Given the description of an element on the screen output the (x, y) to click on. 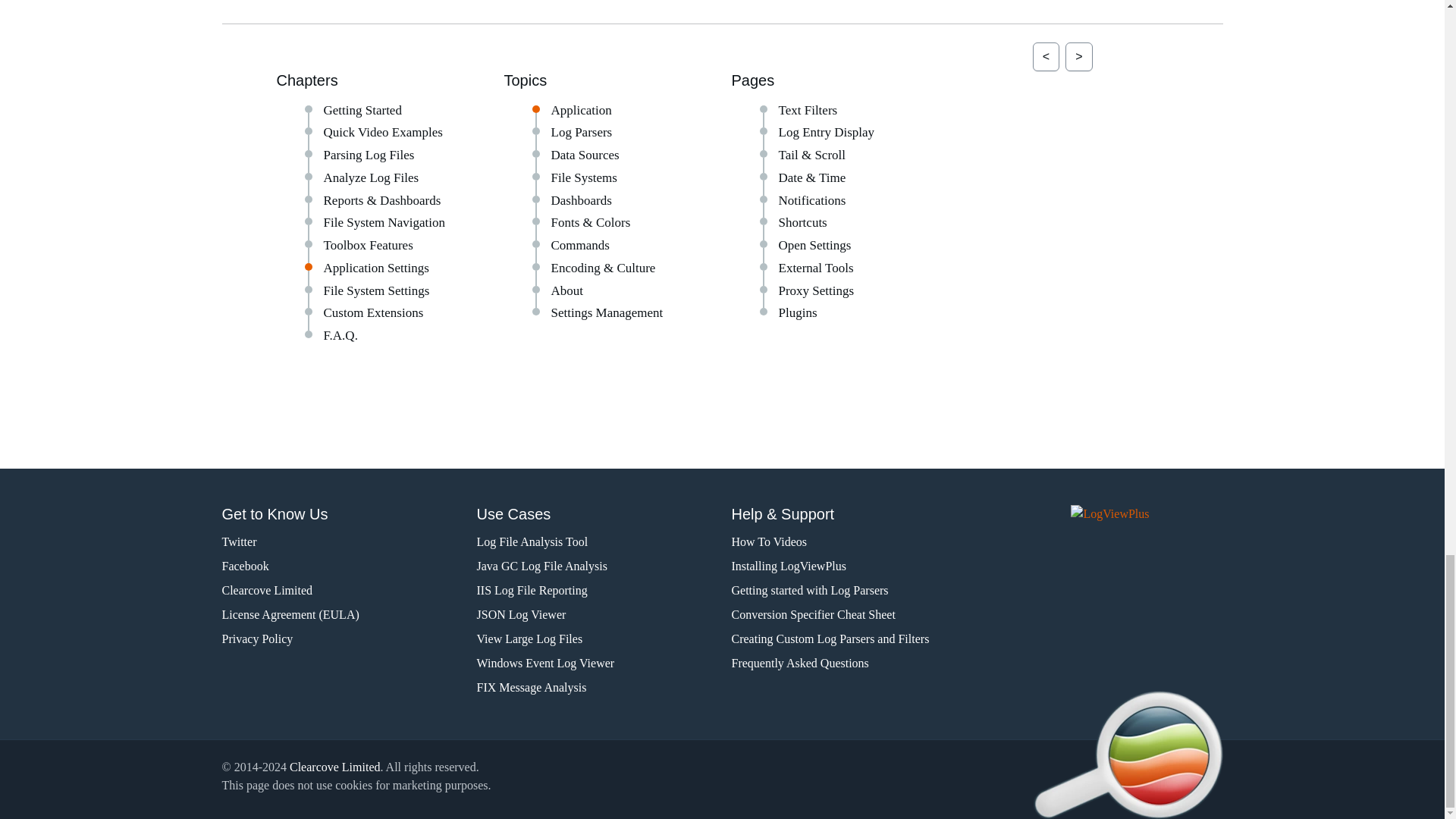
Getting Started (362, 110)
Analyze Log Files (371, 177)
Settings Management (606, 312)
File Systems (582, 177)
Log Parsers (580, 132)
Application (580, 110)
LogViewPlus Home (1146, 520)
Parsing Log Files (368, 155)
Custom Extensions (373, 312)
Text Filters (807, 110)
